Given the description of an element on the screen output the (x, y) to click on. 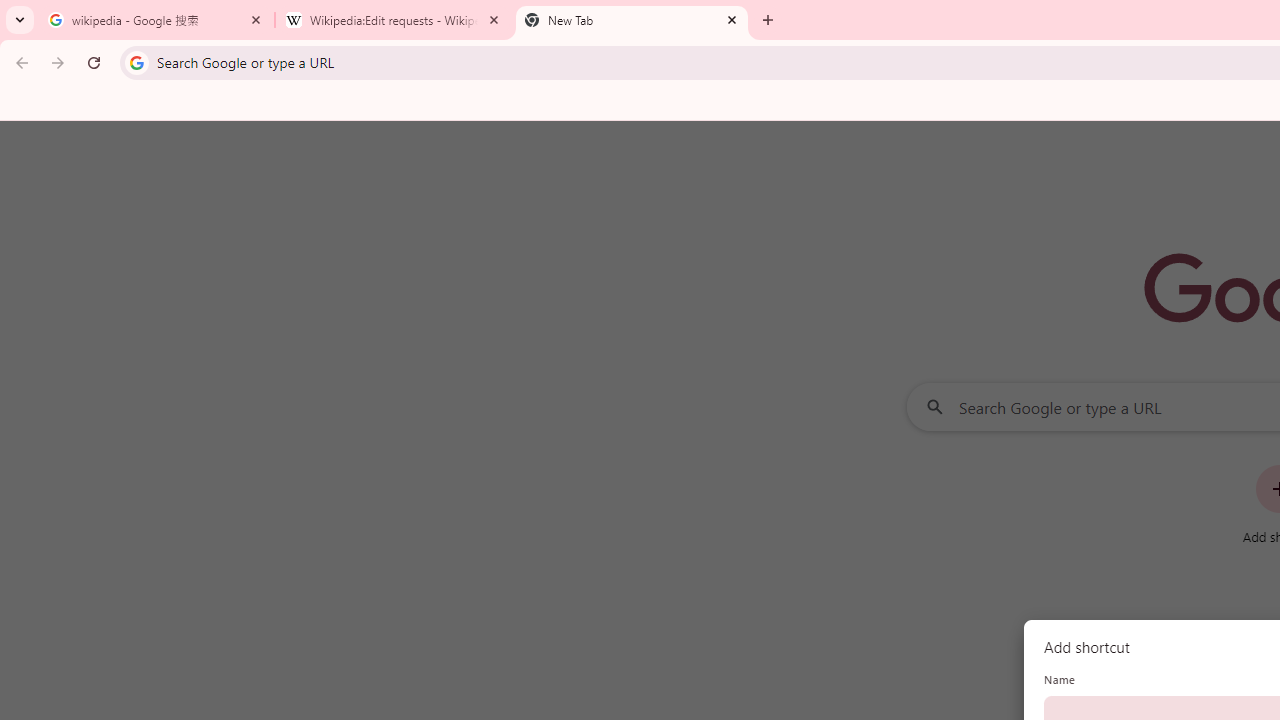
Wikipedia:Edit requests - Wikipedia (394, 20)
New Tab (632, 20)
